Given the description of an element on the screen output the (x, y) to click on. 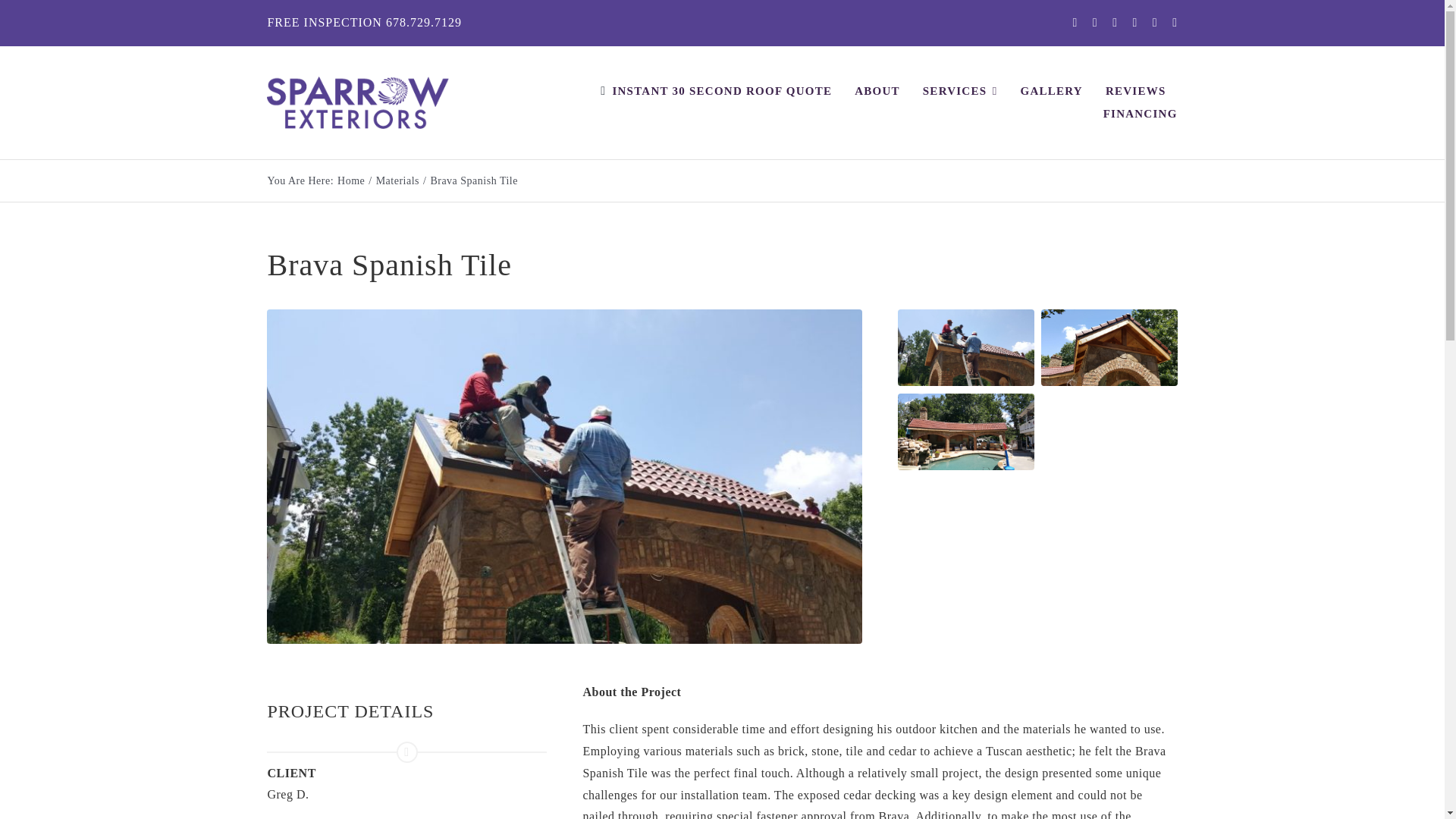
INSTANT 30 SECOND ROOF QUOTE (712, 91)
678.729.7129 (423, 21)
REVIEWS (1135, 91)
ABOUT (876, 91)
Home (351, 180)
GALLERY (1051, 91)
bravo-2 (965, 347)
FINANCING (1140, 114)
bravo-3 (965, 431)
bravo-1 (1108, 347)
SERVICES (960, 91)
Materials (397, 180)
